Given the description of an element on the screen output the (x, y) to click on. 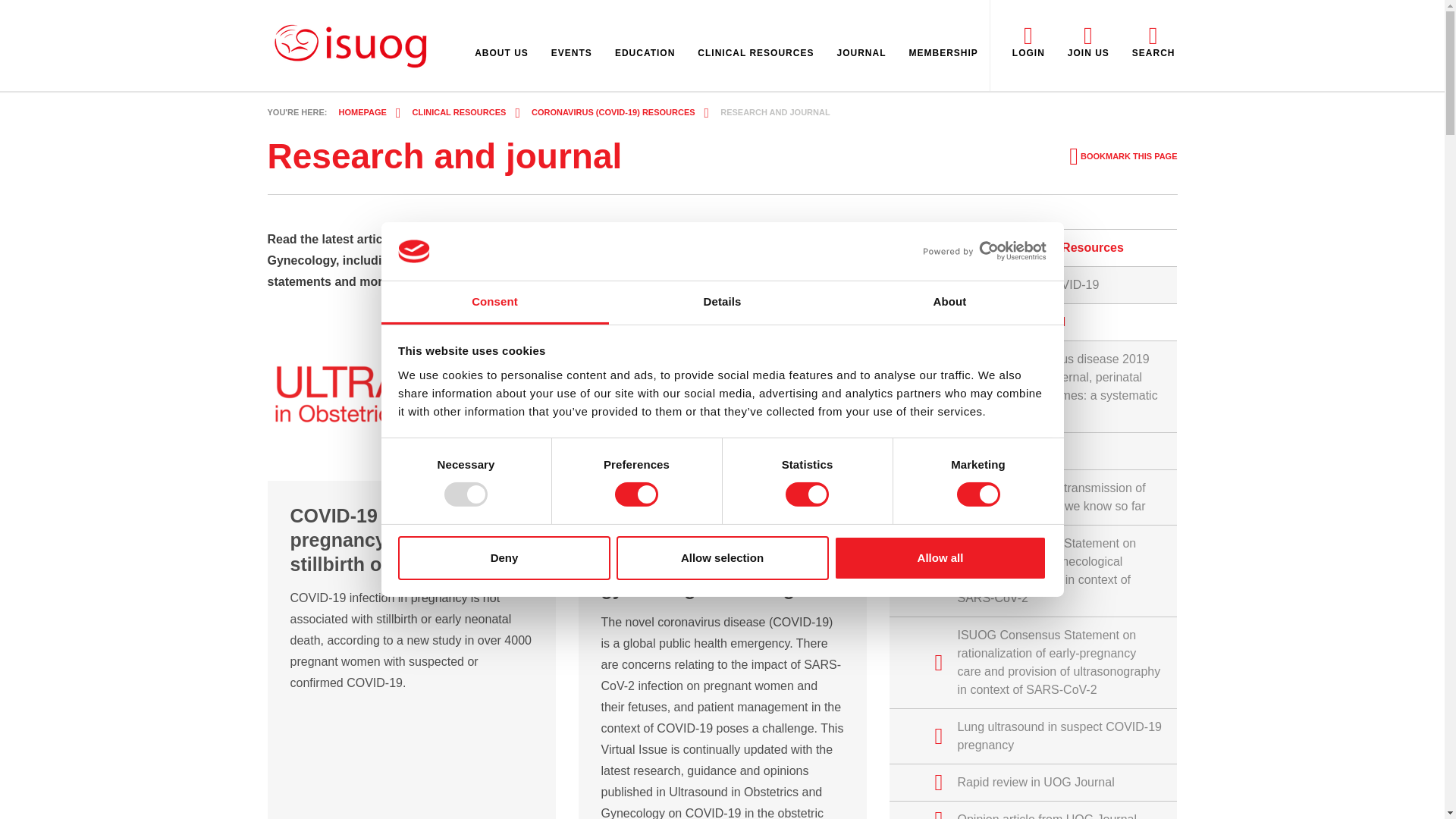
Consent (494, 302)
About (948, 302)
Details (721, 302)
